Given the description of an element on the screen output the (x, y) to click on. 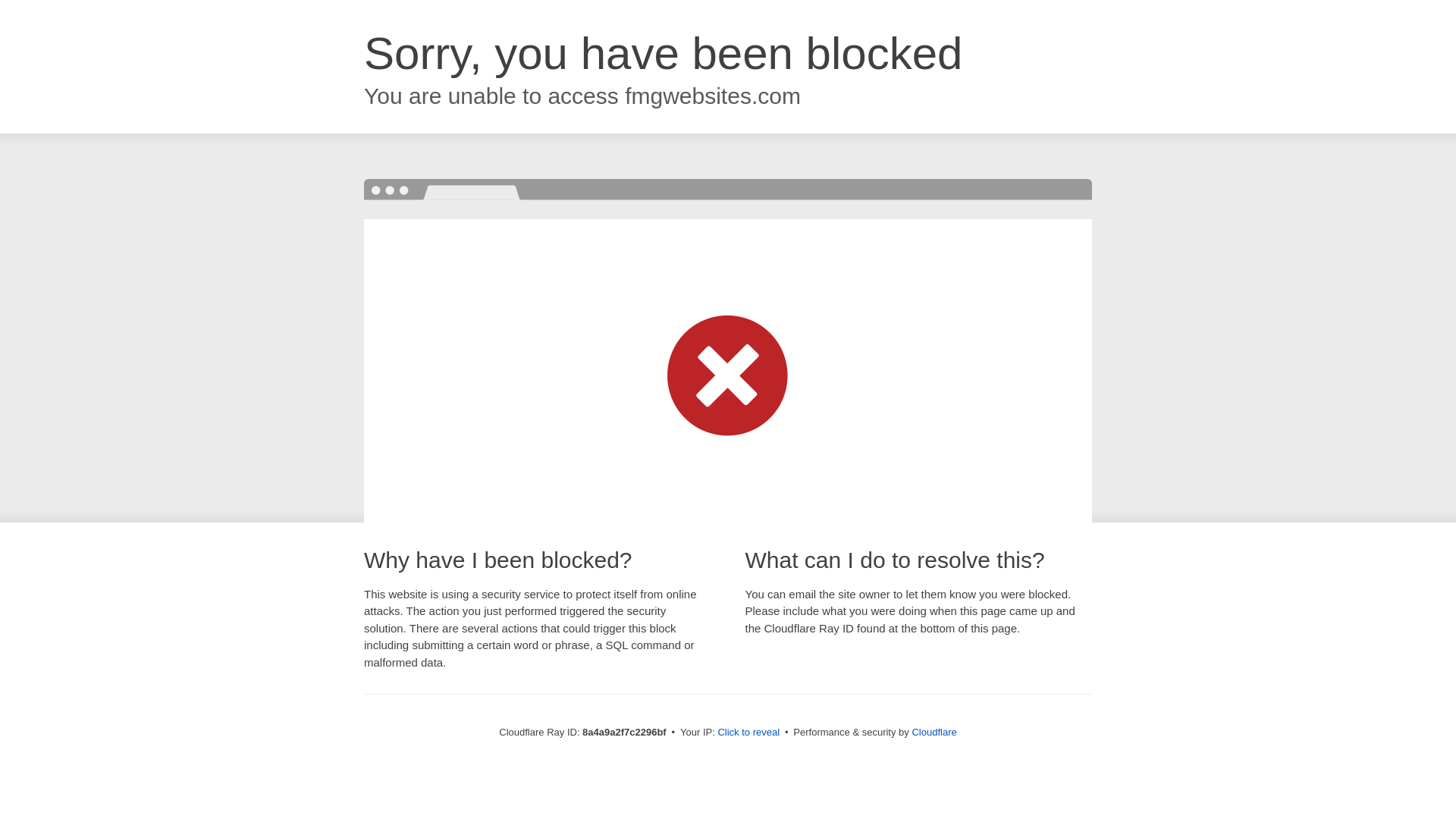
Cloudflare (933, 731)
Click to reveal (747, 732)
